Given the description of an element on the screen output the (x, y) to click on. 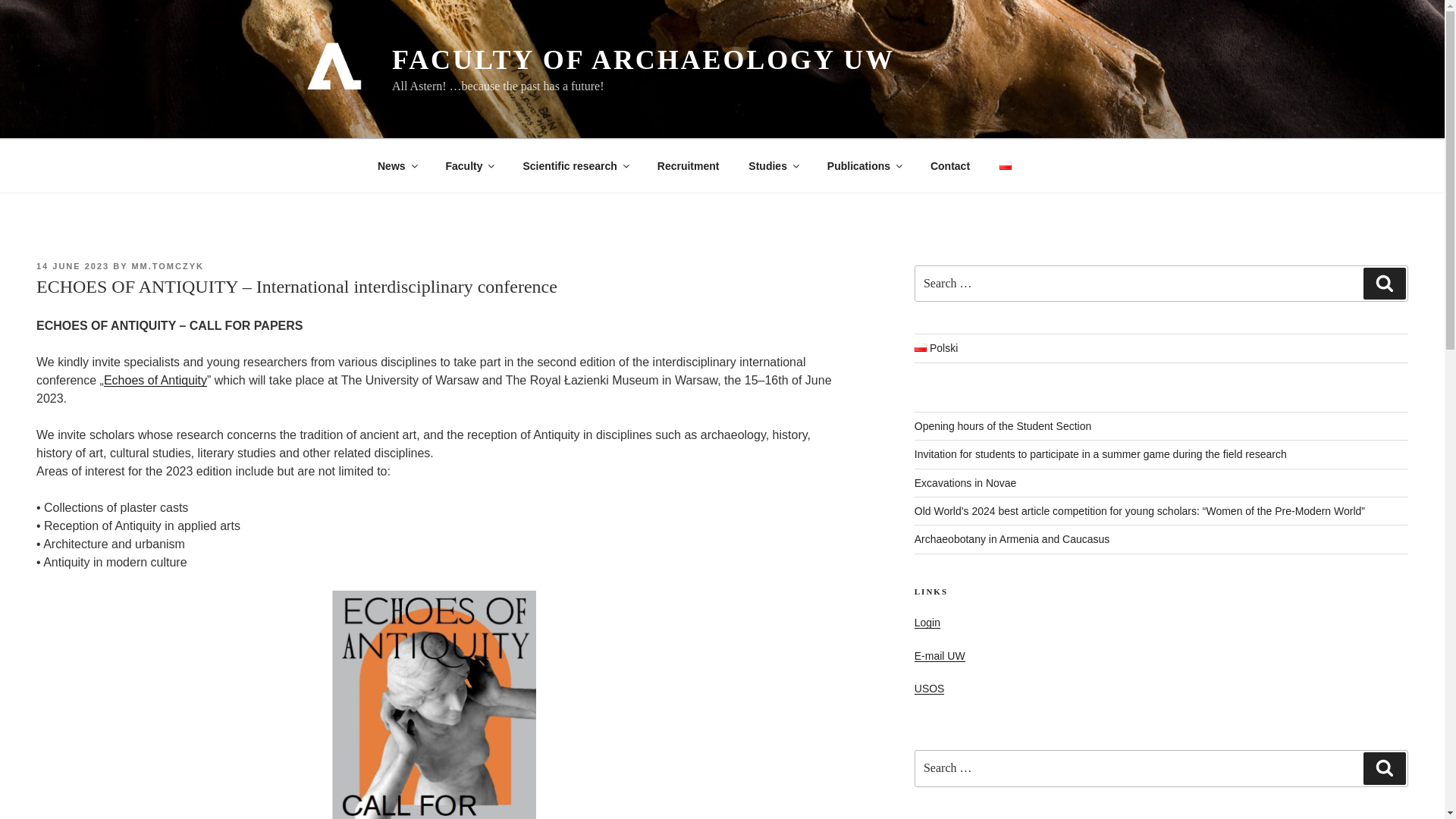
Faculty (469, 165)
FACULTY OF ARCHAEOLOGY UW (643, 60)
News (396, 165)
Studies (772, 165)
Recruitment (687, 165)
Scientific research (575, 165)
